Given the description of an element on the screen output the (x, y) to click on. 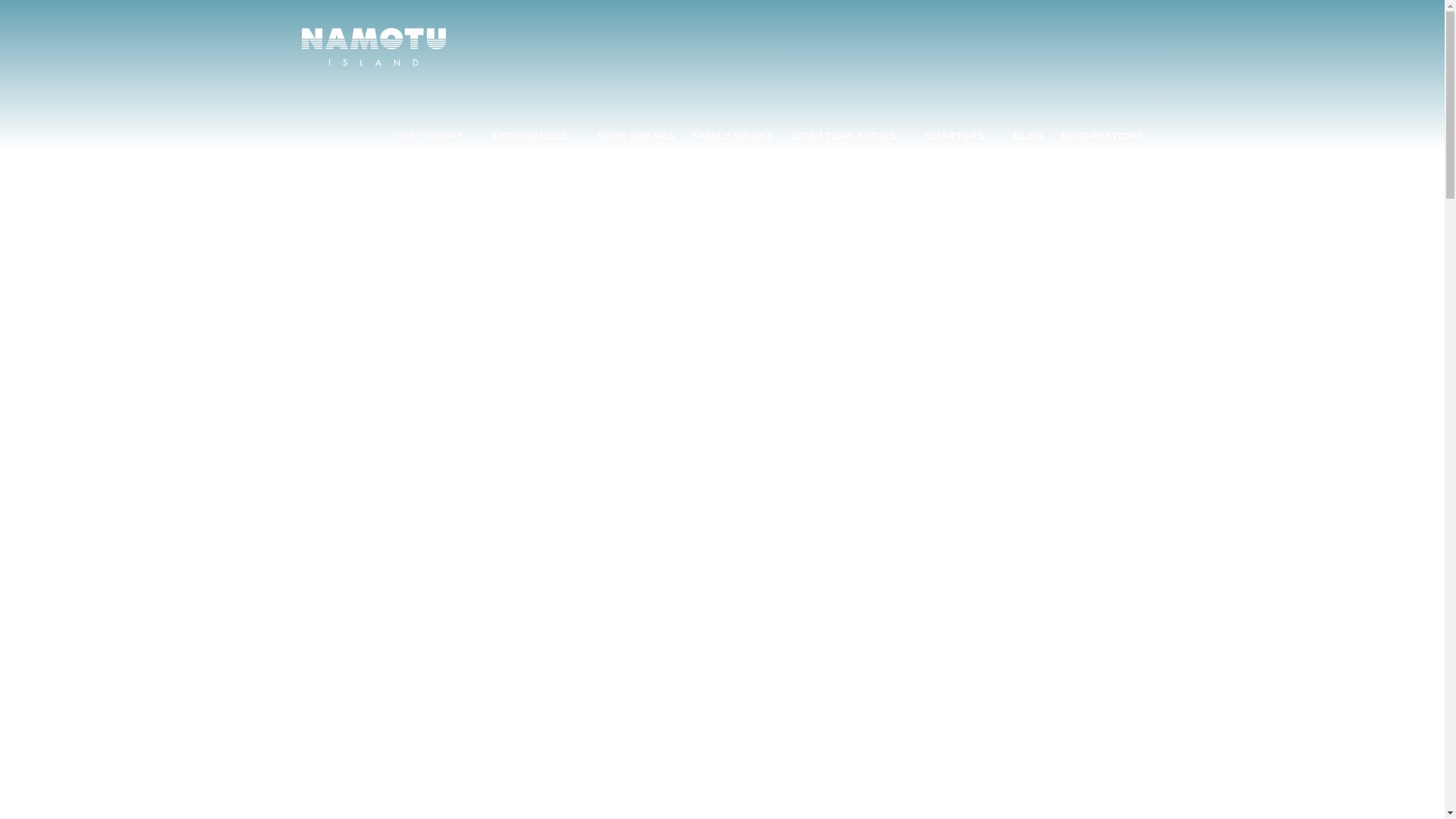
BLOG (1028, 136)
EXPERIENCES (536, 136)
SURF BREAKS (635, 136)
Namotu Island Resort (434, 136)
FAMILY WEEKS (733, 136)
THE RESORT (434, 136)
RESERVATIONS (1102, 136)
CHARTERS (960, 136)
SIGNATURE SERIES (850, 136)
Namotu Island Experiences (536, 136)
